Given the description of an element on the screen output the (x, y) to click on. 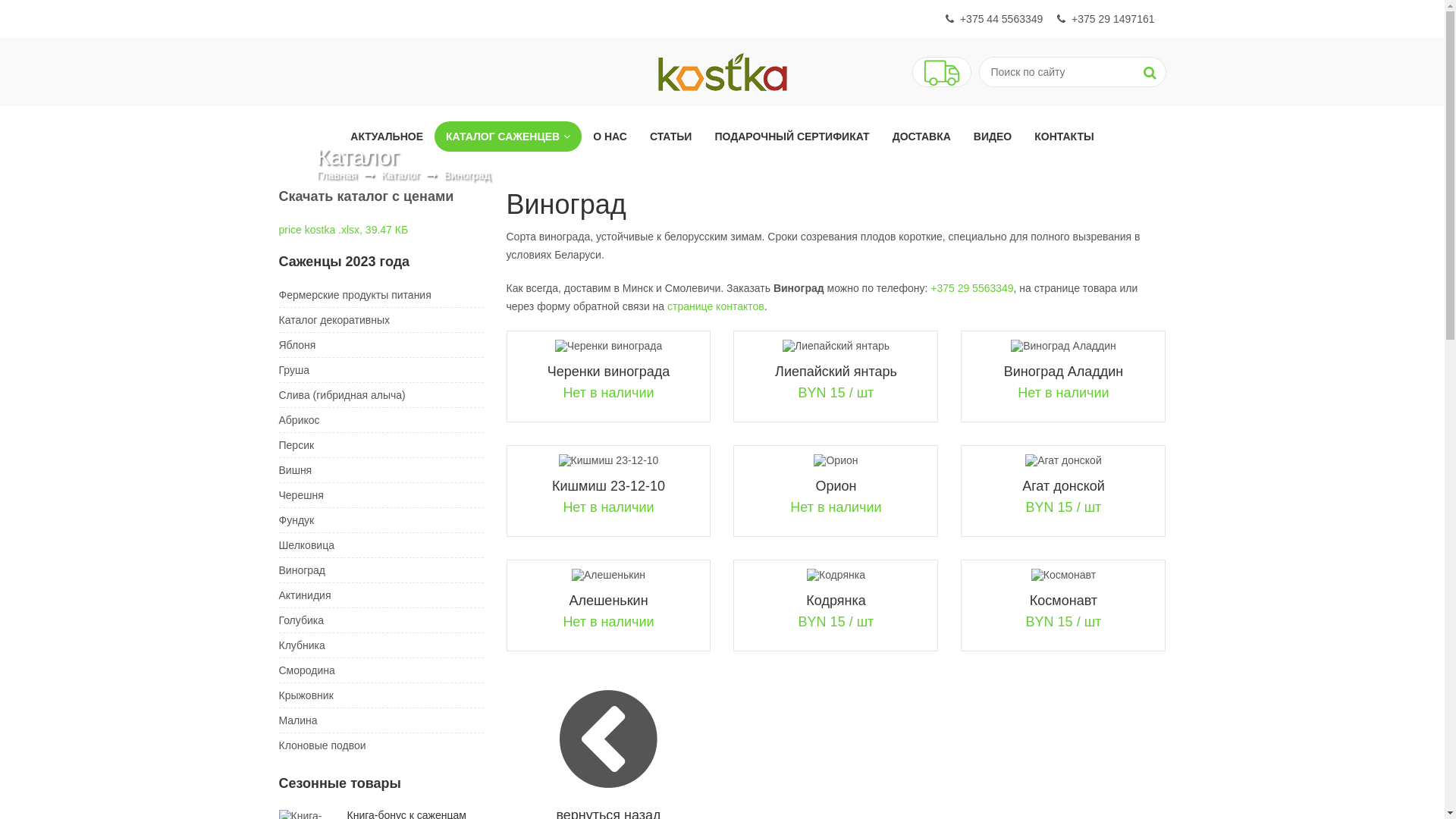
+375 44 5563349 Element type: text (993, 18)
+375 29 1497161 Element type: text (1105, 18)
+375 29 5563349 Element type: text (971, 288)
